Given the description of an element on the screen output the (x, y) to click on. 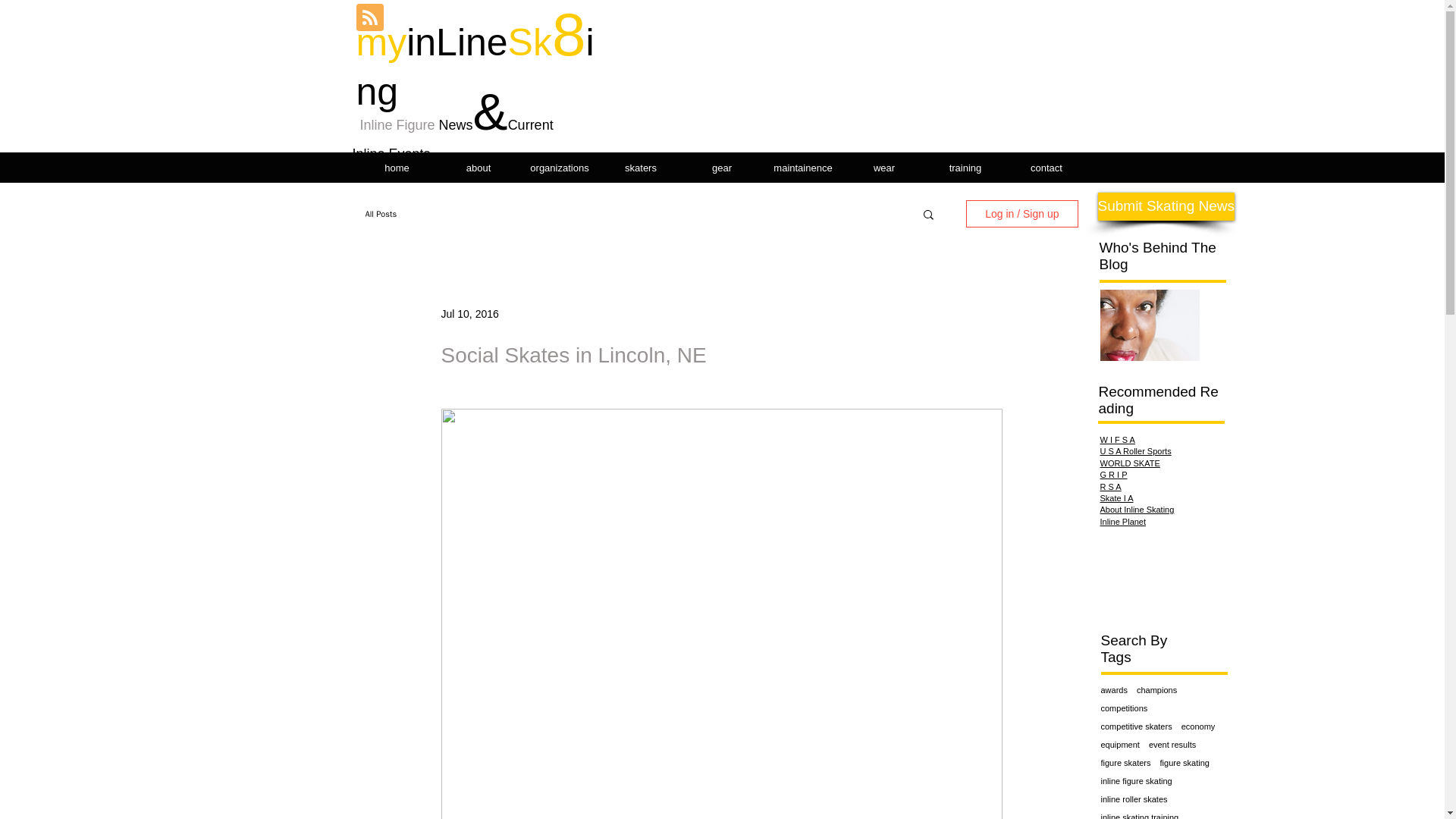
training (965, 168)
All Posts (381, 213)
ing (475, 67)
contact (1046, 168)
about (478, 168)
maintainence (803, 168)
gear (721, 168)
myinLineSk (453, 42)
organizations (558, 168)
wear (883, 168)
8 (568, 33)
skaters (640, 168)
Jul 10, 2016 (470, 313)
home (397, 168)
